Given the description of an element on the screen output the (x, y) to click on. 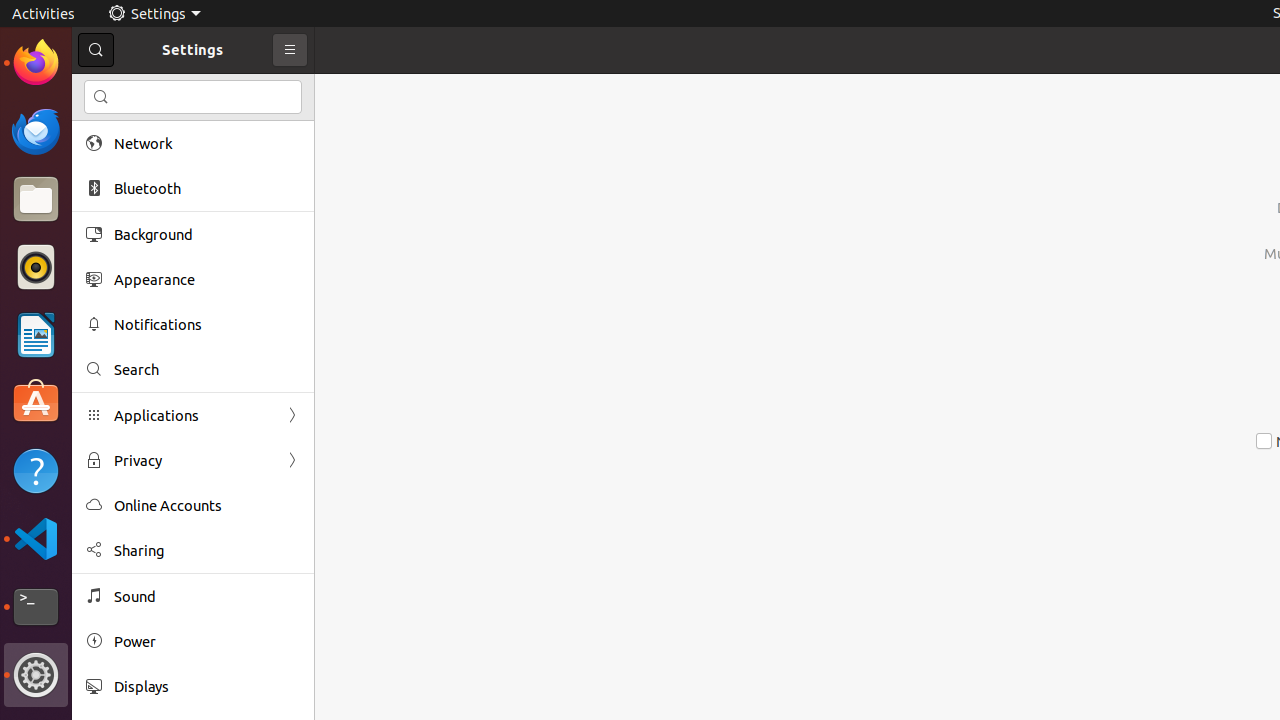
edit-find-symbolic Element type: icon (101, 97)
luyi1 Element type: label (133, 89)
Sharing Element type: label (207, 550)
Online Accounts Element type: label (207, 505)
